Given the description of an element on the screen output the (x, y) to click on. 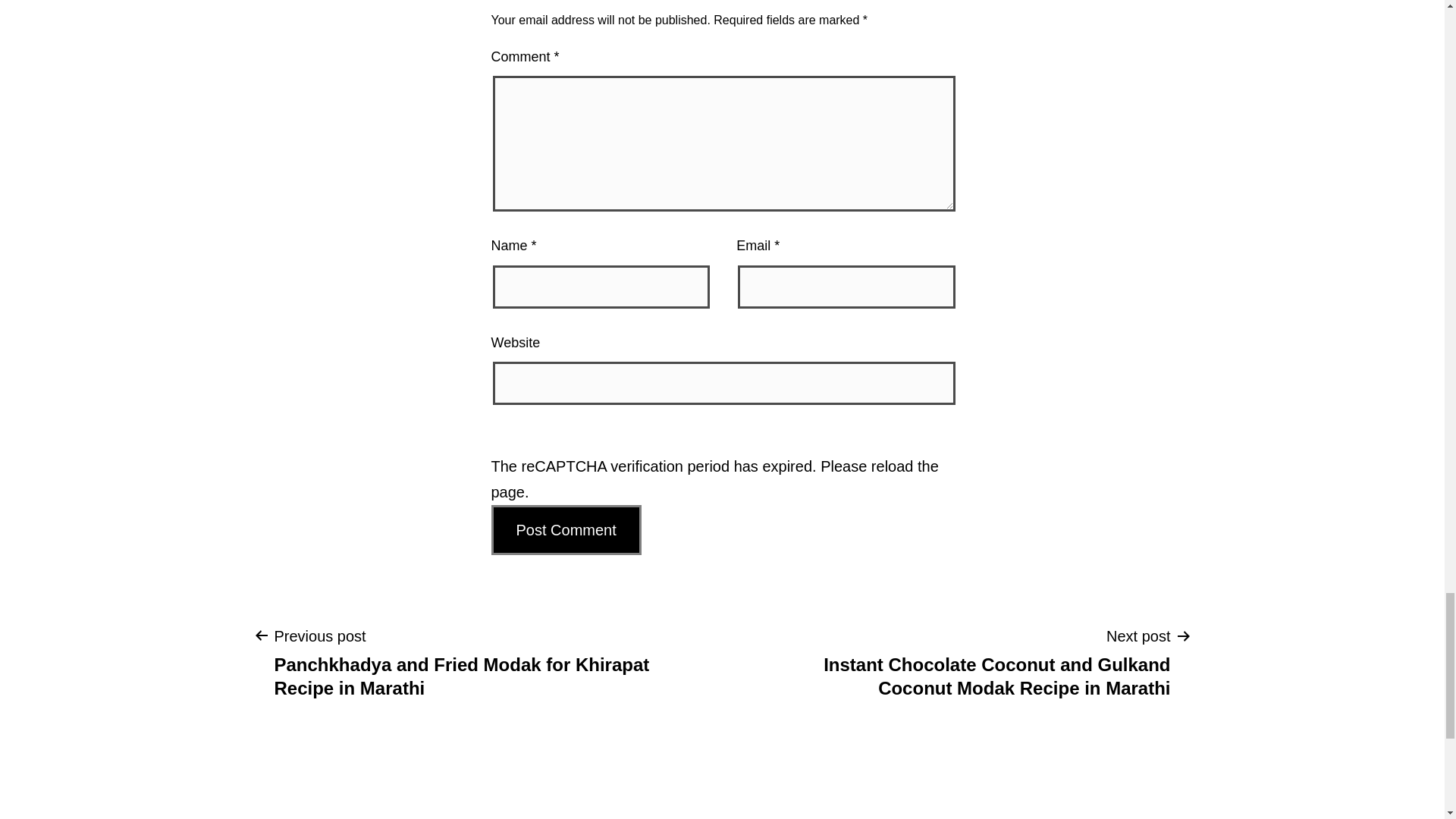
Post Comment (567, 530)
Post Comment (567, 530)
